Given the description of an element on the screen output the (x, y) to click on. 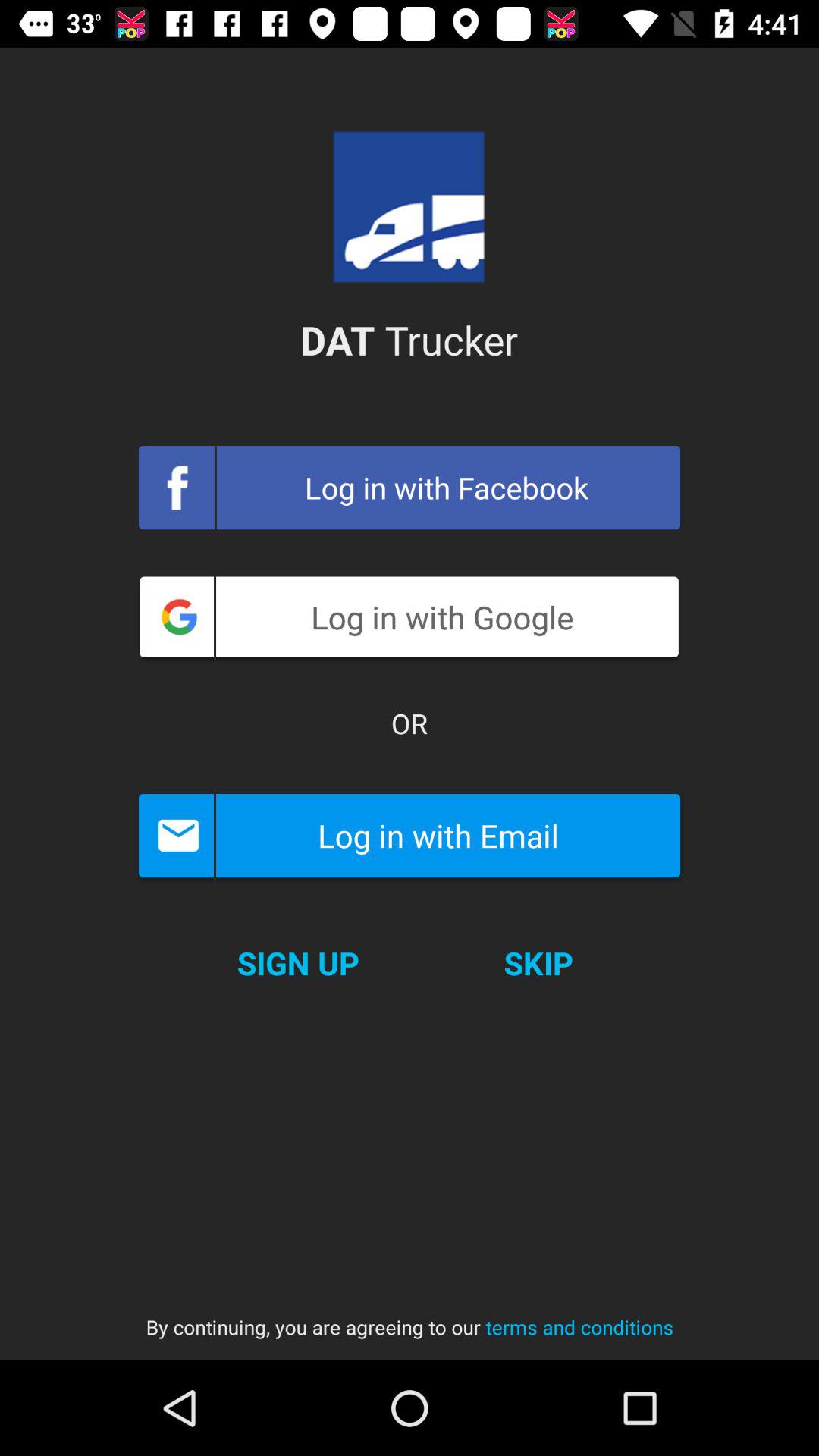
jump to the by continuing you icon (409, 1312)
